Given the description of an element on the screen output the (x, y) to click on. 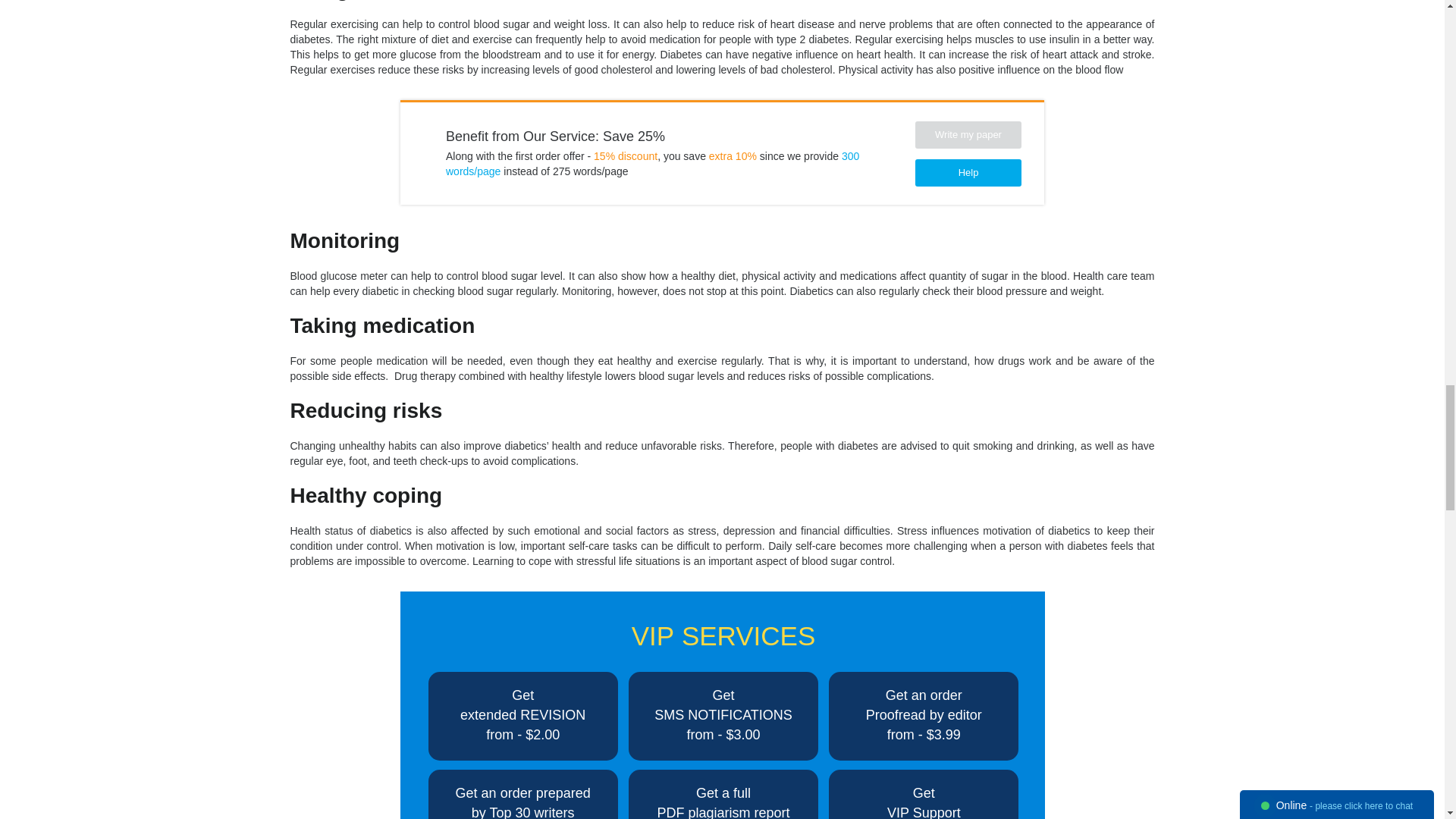
Write my paper (968, 134)
